Given the description of an element on the screen output the (x, y) to click on. 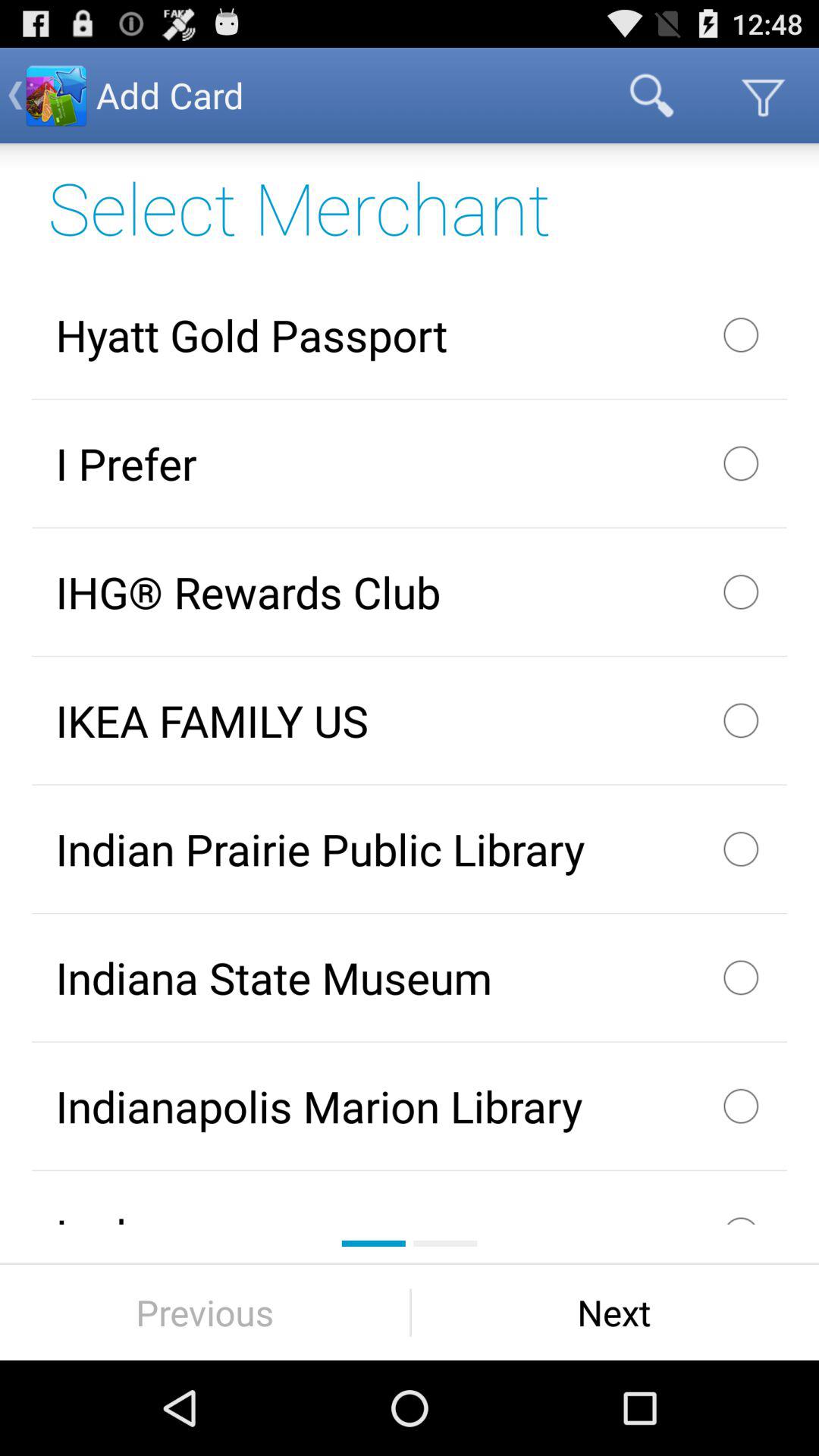
flip to next button (614, 1312)
